Given the description of an element on the screen output the (x, y) to click on. 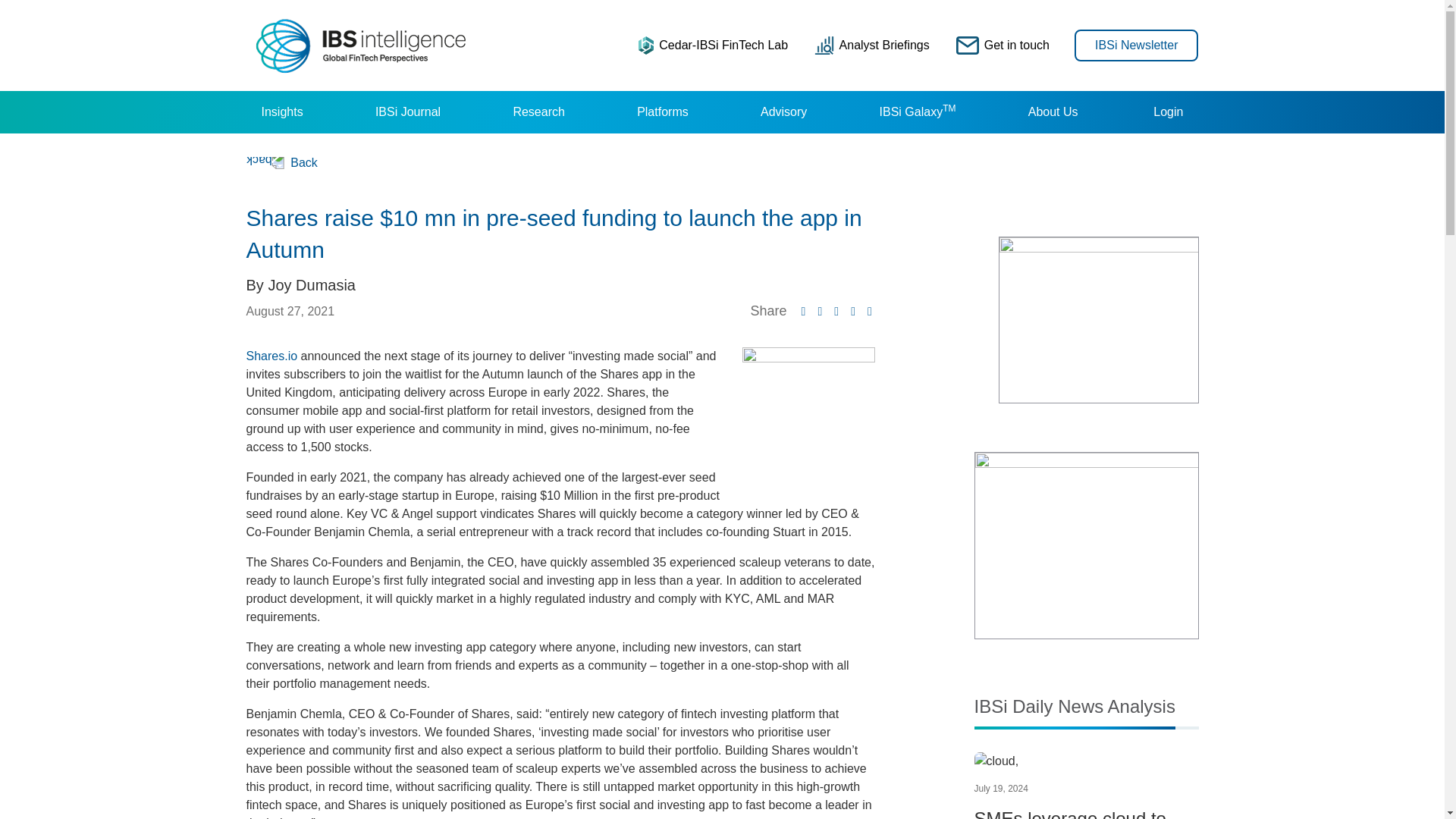
Cedar-IBSi FinTech Lab (712, 45)
Insights (281, 111)
Research (538, 111)
Get in touch (1002, 45)
Analyst Briefings (871, 45)
IBSi Journal (407, 111)
IBSi Newsletter (1136, 44)
